Given the description of an element on the screen output the (x, y) to click on. 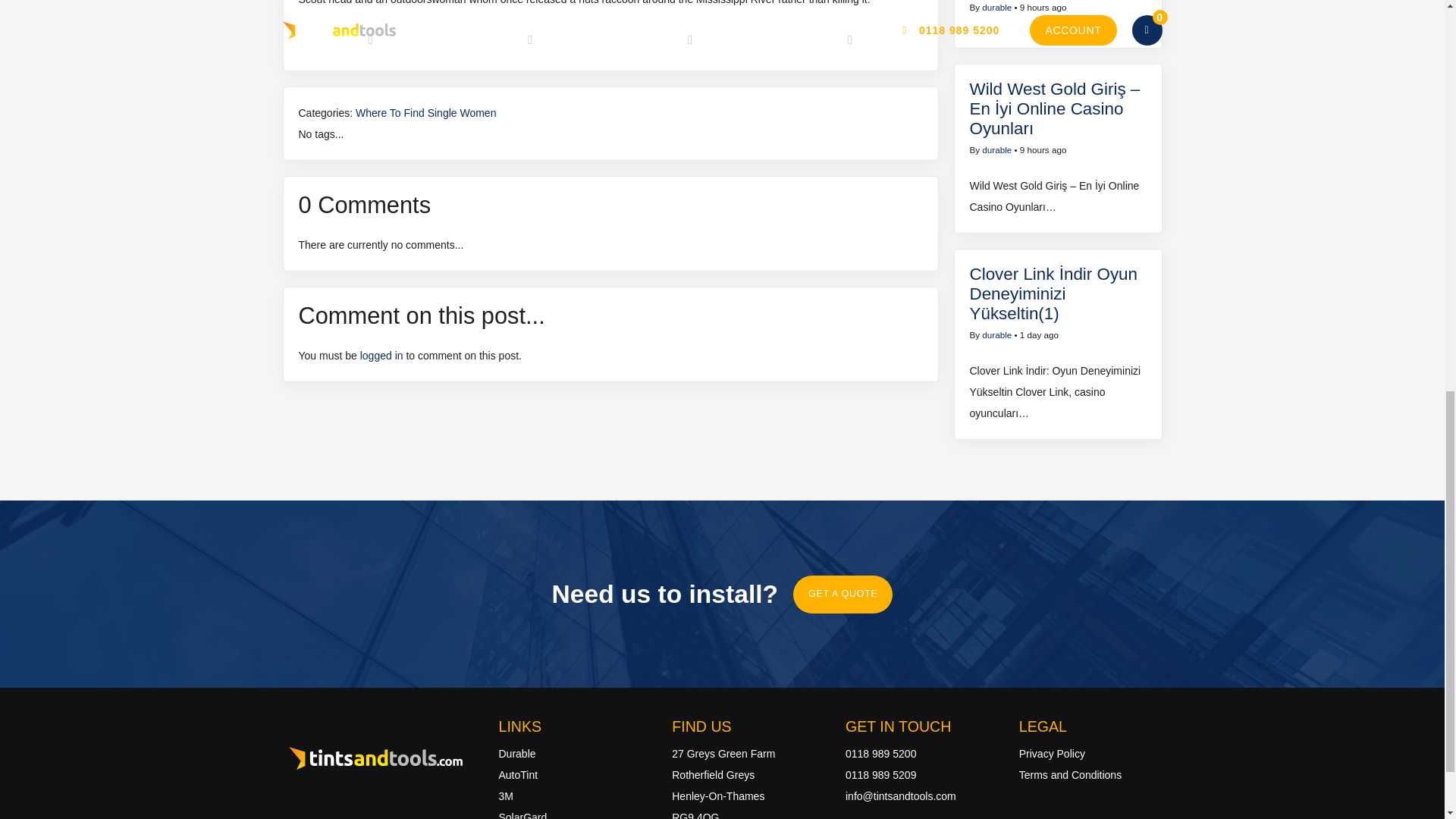
Where To Find Single Women (425, 112)
GET A QUOTE (842, 594)
durable (996, 149)
logged in (381, 355)
durable (996, 334)
durable (996, 7)
